Given the description of an element on the screen output the (x, y) to click on. 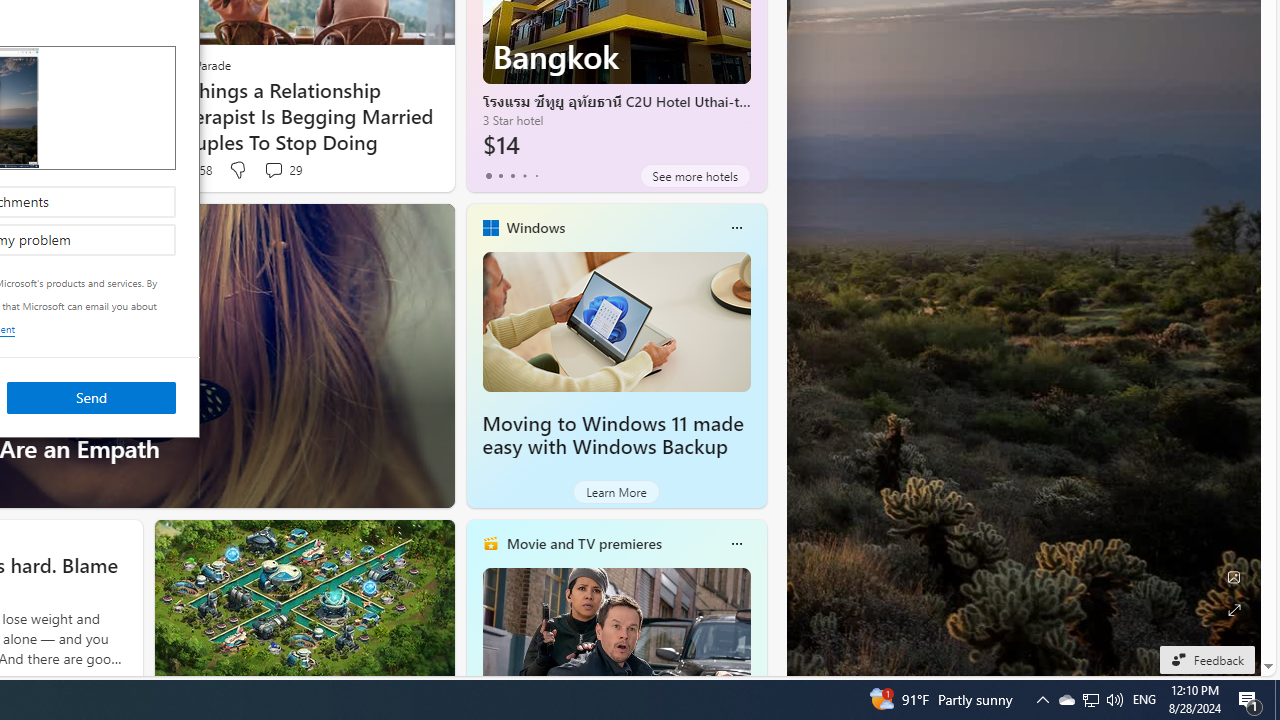
Moving to Windows 11 made easy with Windows Backup (612, 435)
View comments 29 Comment (273, 169)
Edit Background (1233, 577)
tab-3 (524, 175)
Expand background (1091, 699)
Moving to Windows 11 made easy with Windows Backup (1066, 699)
Windows (1233, 610)
tab-4 (616, 321)
See more hotels (535, 227)
Movie and TV premieres (535, 175)
